Given the description of an element on the screen output the (x, y) to click on. 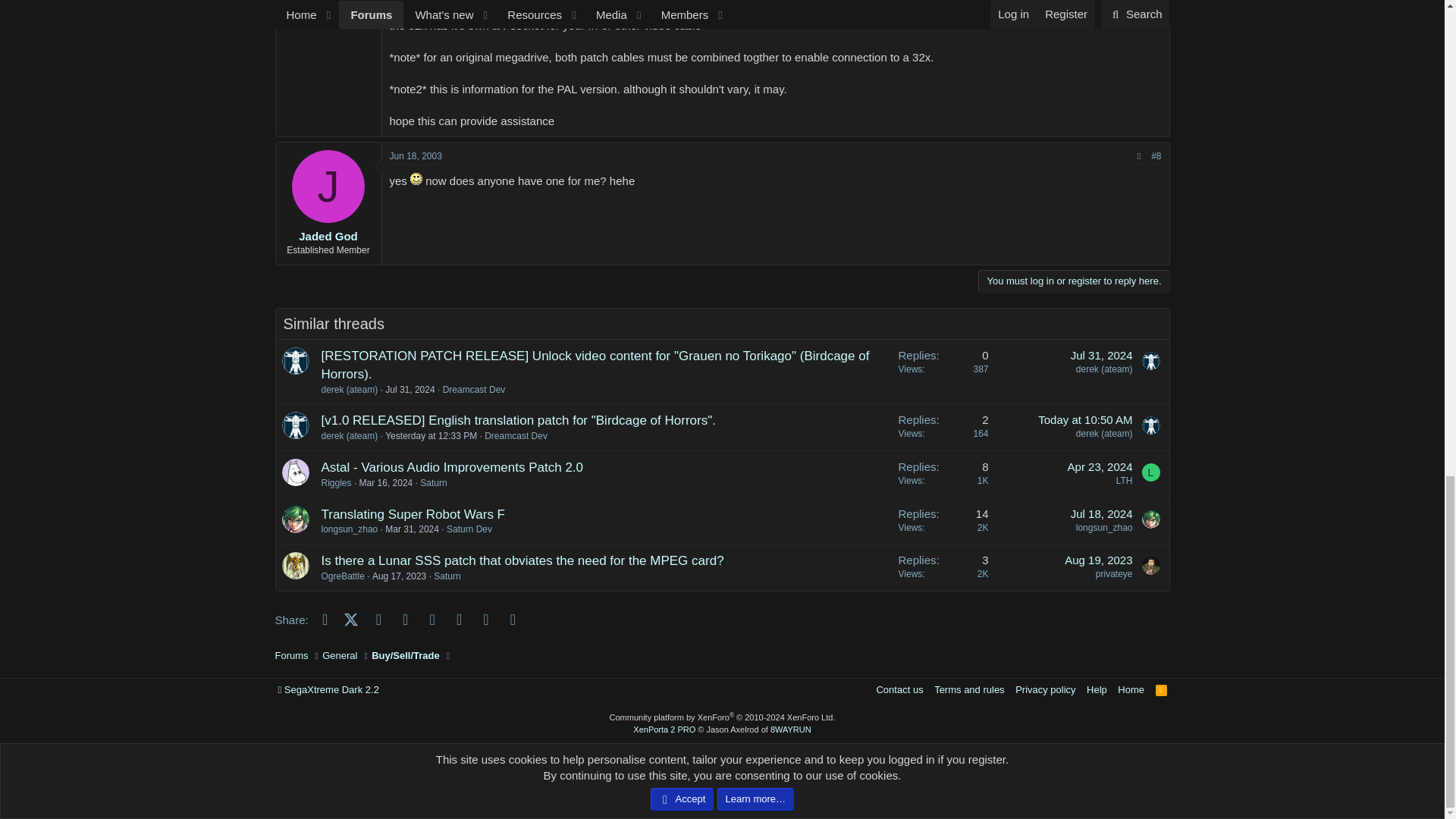
Jun 18, 2003 at 10:30 PM (416, 155)
First message reaction score: 2 (942, 371)
Jul 31, 2024 at 7:39 AM (409, 389)
Jul 31, 2024 at 7:39 AM (1101, 354)
